Given the description of an element on the screen output the (x, y) to click on. 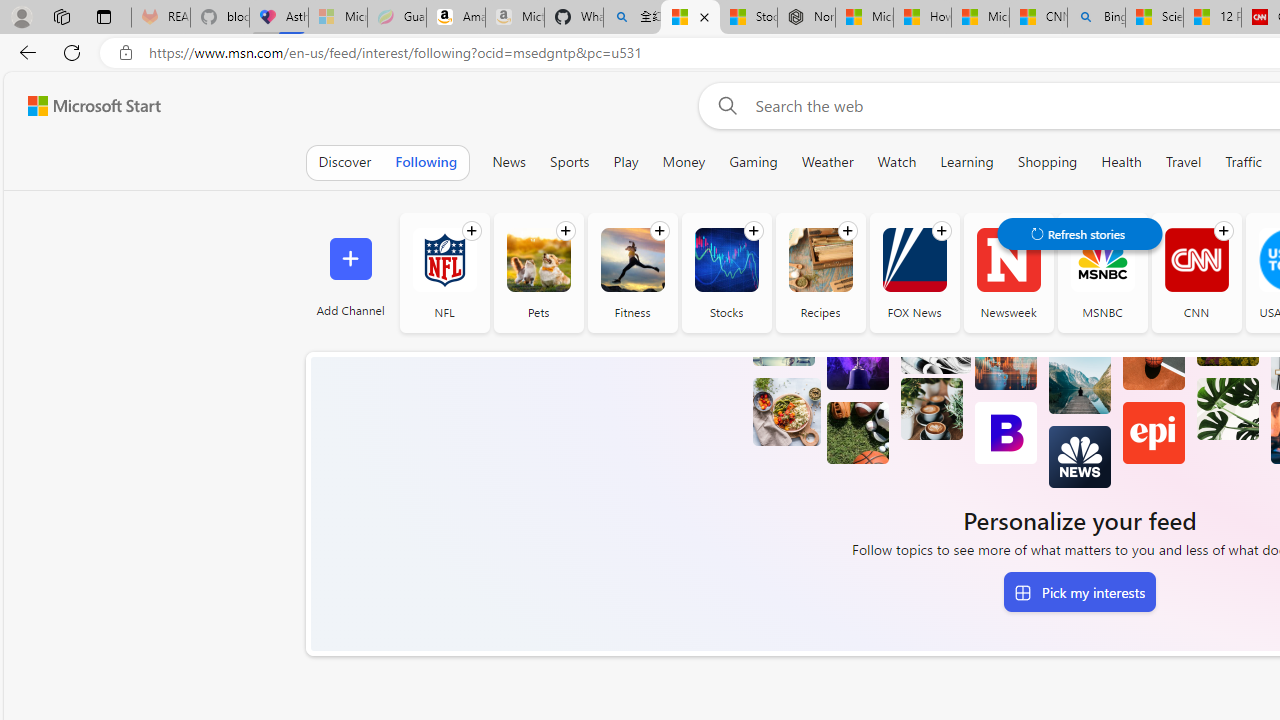
CNN (1195, 260)
Fitness (632, 272)
